Given the description of an element on the screen output the (x, y) to click on. 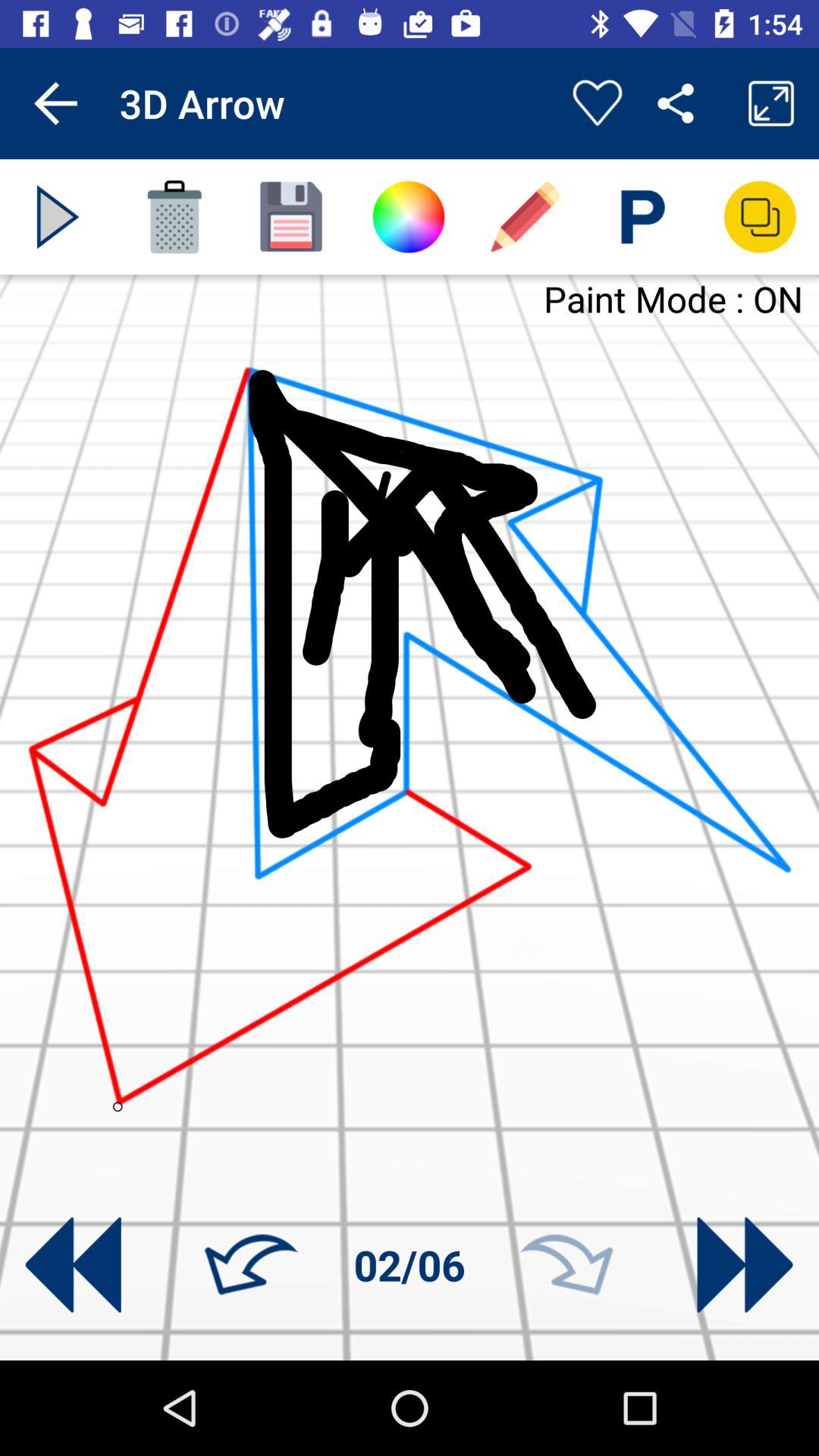
change color (408, 216)
